Given the description of an element on the screen output the (x, y) to click on. 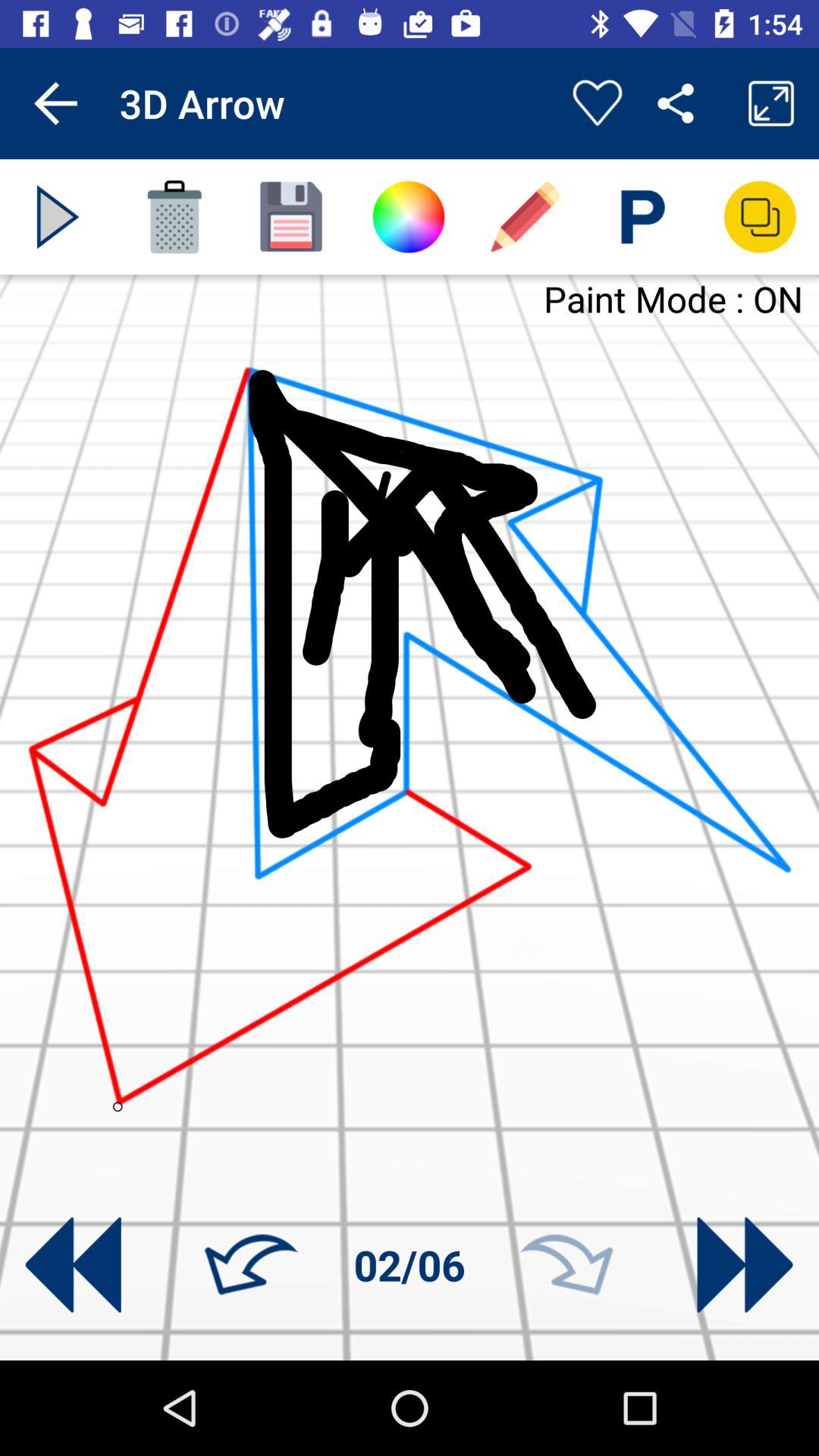
change color (408, 216)
